Given the description of an element on the screen output the (x, y) to click on. 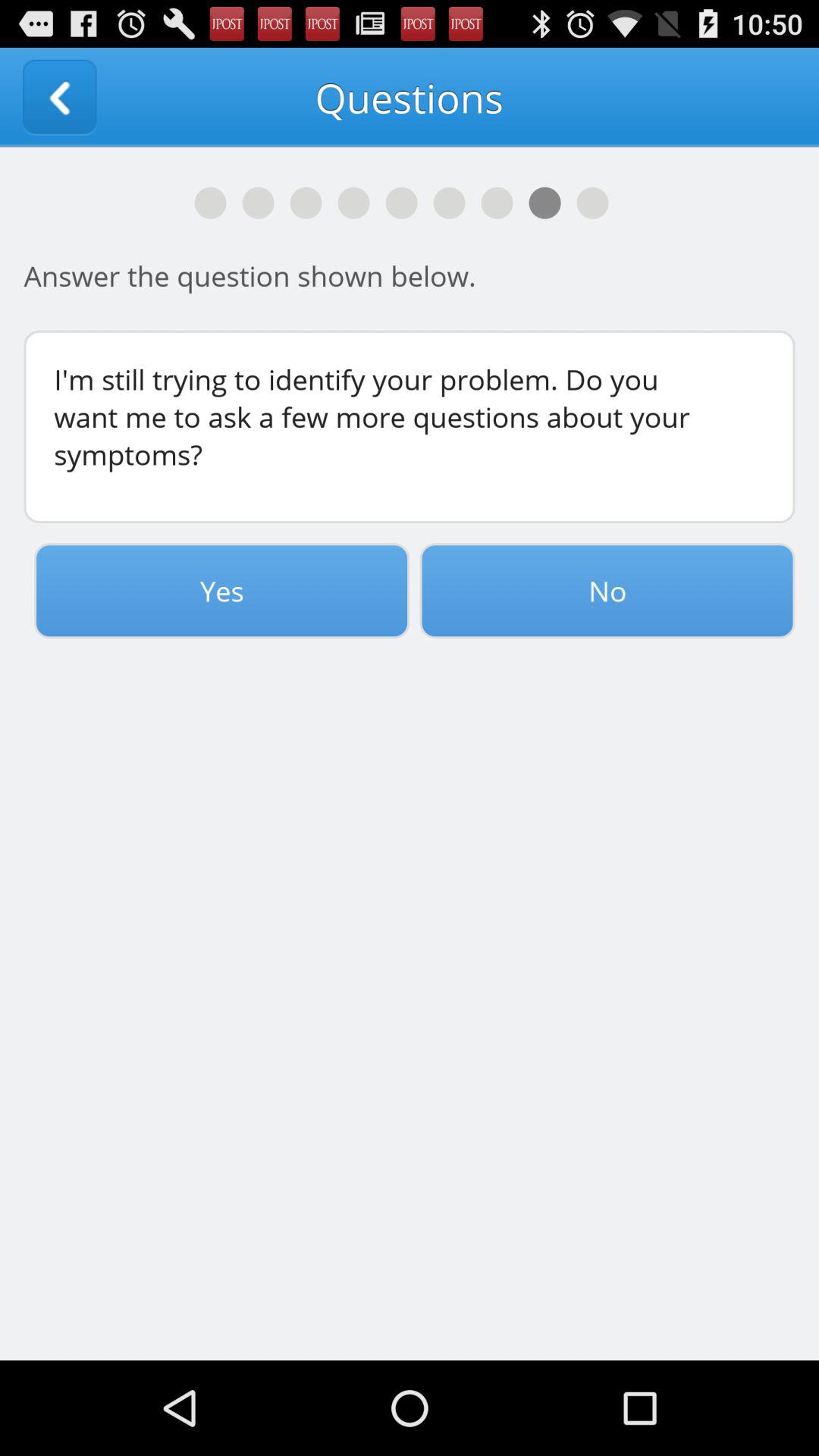
tap the icon on the right (607, 590)
